Given the description of an element on the screen output the (x, y) to click on. 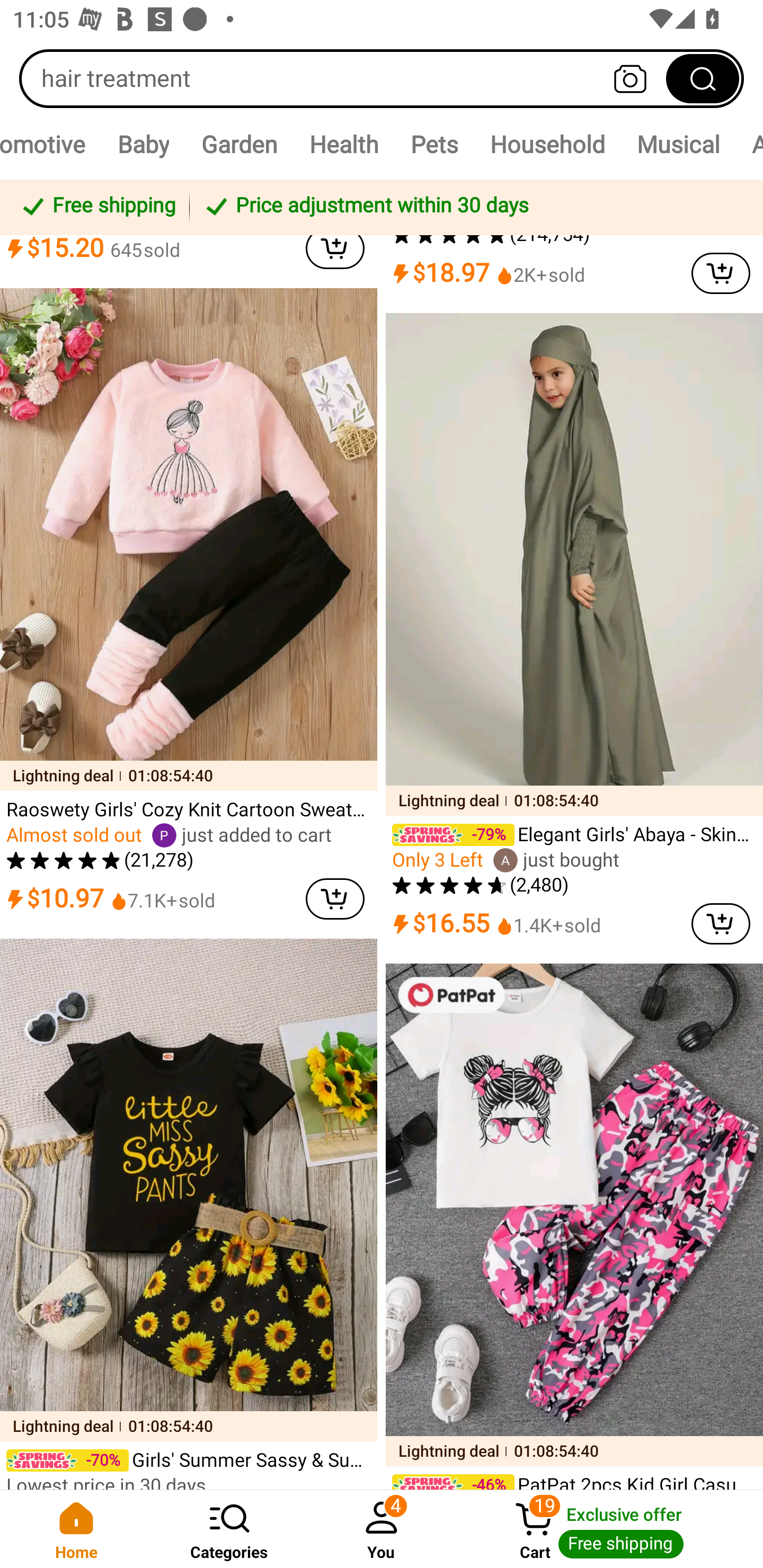
hair treatment (381, 78)
Automotive (50, 144)
Baby (142, 144)
Garden (238, 144)
Health (343, 144)
Pets (433, 144)
Household (546, 144)
Musical (677, 144)
Free shipping (97, 206)
Price adjustment within 30 days (472, 206)
cart delete (334, 252)
cart delete (720, 273)
cart delete (334, 898)
cart delete (720, 923)
Home (76, 1528)
Categories (228, 1528)
You 4 You (381, 1528)
Cart 19 Cart Exclusive offer (610, 1528)
